Given the description of an element on the screen output the (x, y) to click on. 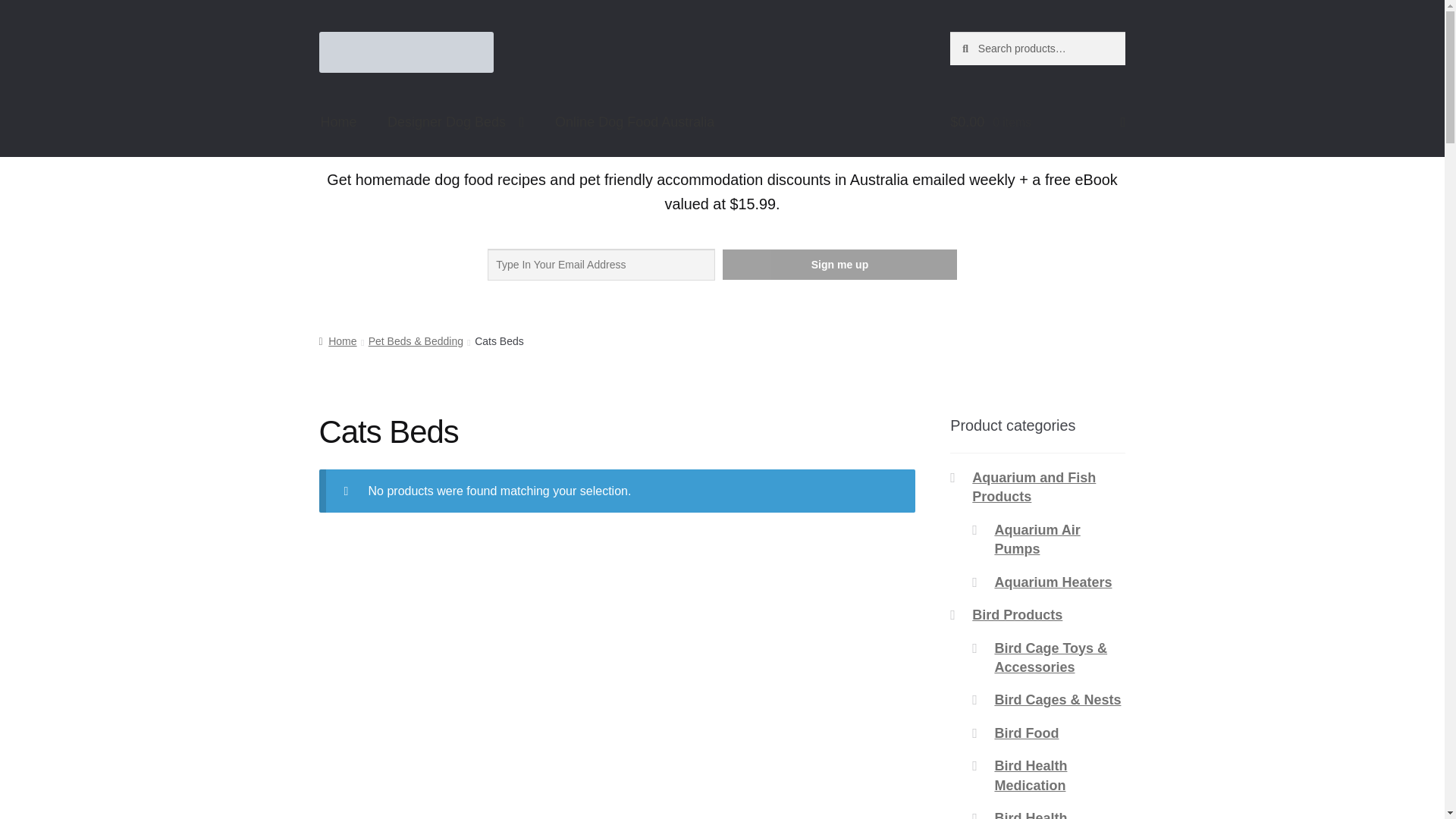
Home (339, 122)
Bird Products (1017, 614)
Bird Health Medication (1030, 775)
Online Dog Food Australia (634, 122)
View your shopping cart (1037, 122)
Sign me up (839, 264)
Bird Health Suppliments (1034, 814)
Aquarium Air Pumps (1037, 539)
Bird Food (1026, 733)
Home (337, 340)
